Given the description of an element on the screen output the (x, y) to click on. 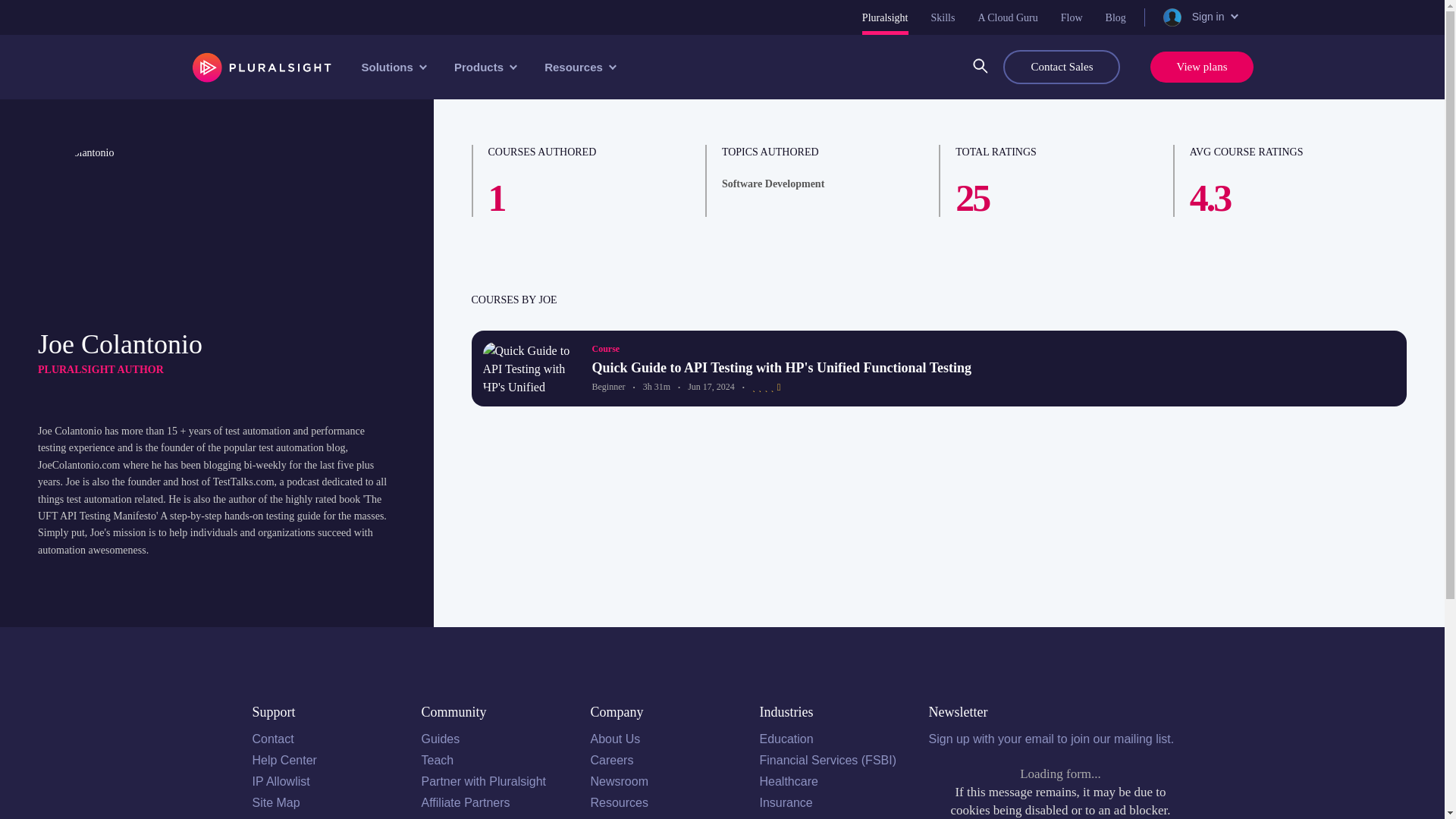
Blog (1115, 16)
Flow (1072, 16)
Sign in (1198, 17)
Skills (943, 16)
Products (483, 66)
Solutions (392, 66)
A Cloud Guru (1006, 16)
Pluralsight (884, 16)
